Given the description of an element on the screen output the (x, y) to click on. 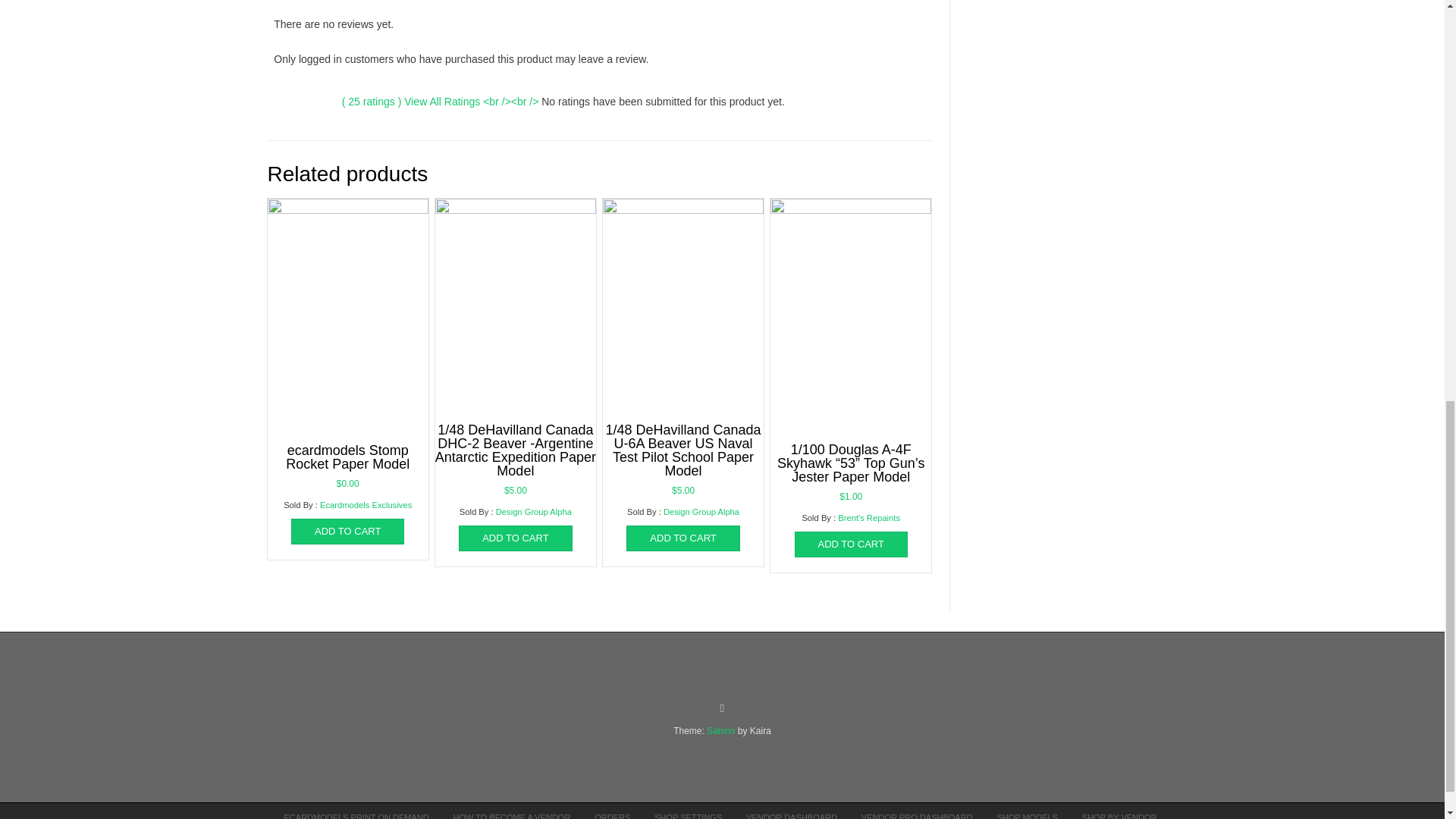
Design Group Alpha (701, 511)
ADD TO CART (682, 538)
Ecardmodels Exclusives (366, 504)
ADD TO CART (347, 531)
ADD TO CART (515, 538)
Design Group Alpha (534, 511)
